Given the description of an element on the screen output the (x, y) to click on. 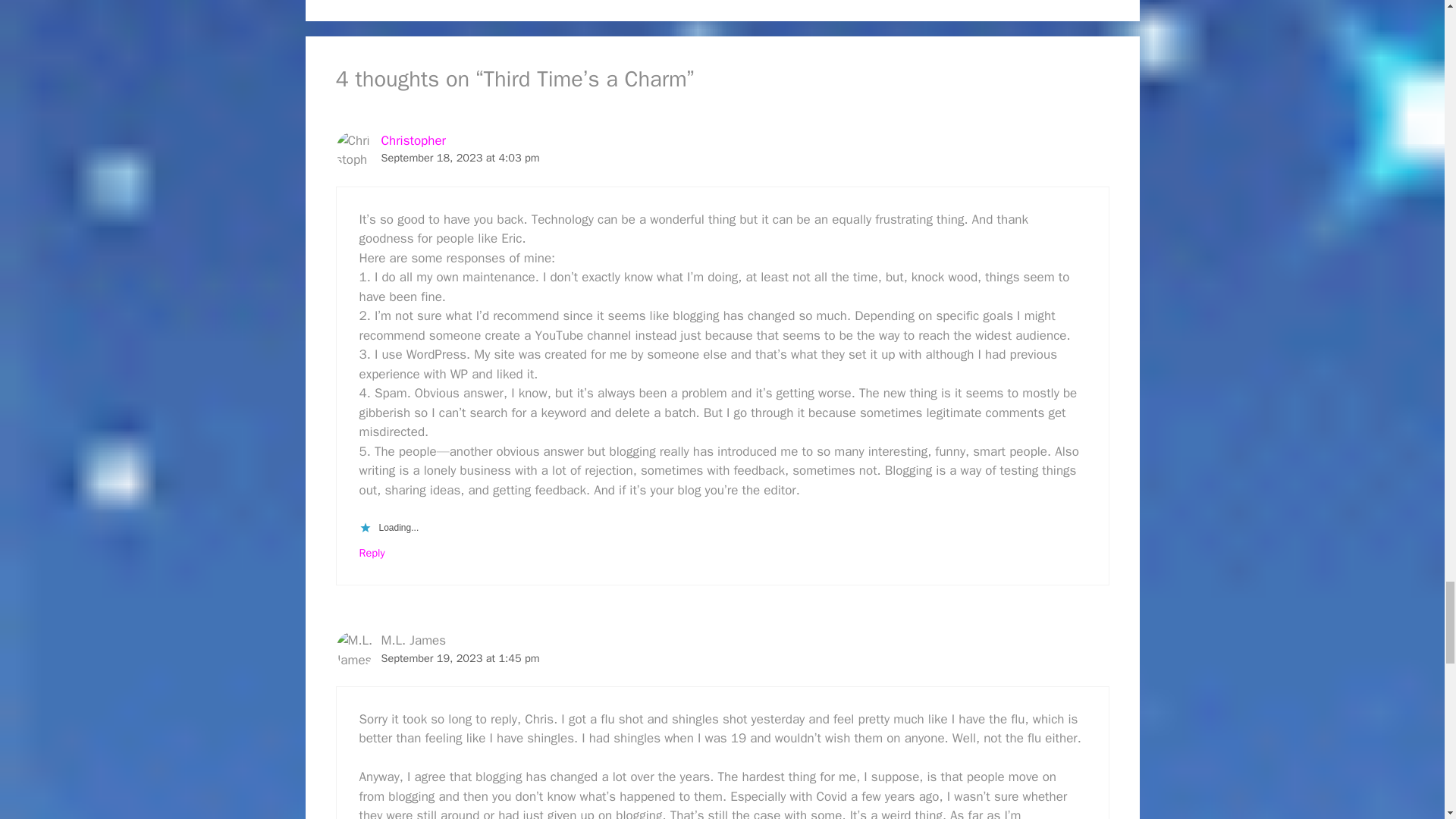
September 19, 2023 at 1:45 pm (459, 658)
Christopher (412, 140)
September 18, 2023 at 4:03 pm (459, 157)
Reply (372, 552)
